Given the description of an element on the screen output the (x, y) to click on. 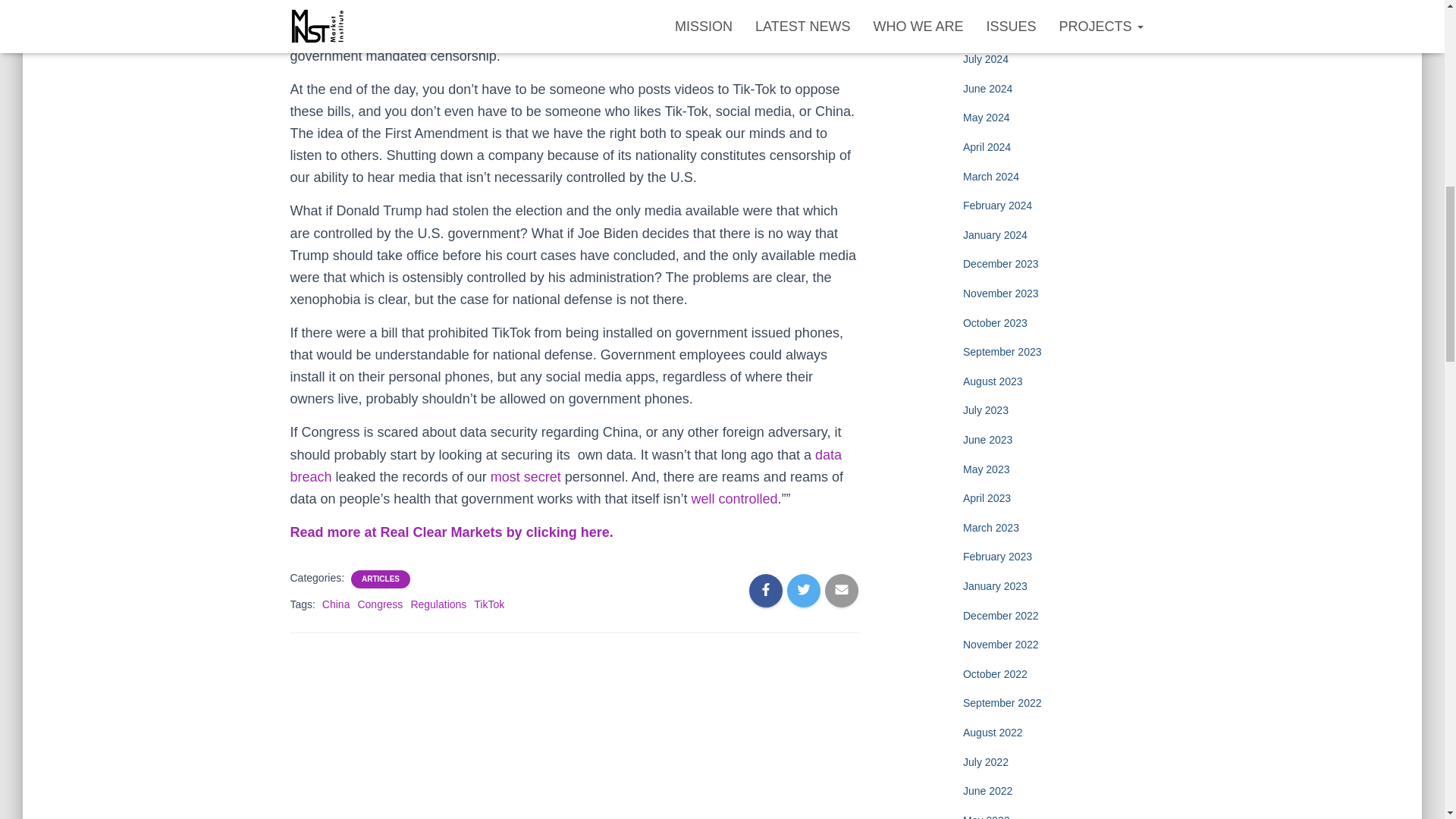
ARTICLES (380, 579)
January 2024 (994, 234)
Regulations (437, 604)
TikTok (488, 604)
May 2024 (985, 117)
October 2023 (994, 322)
February 2024 (997, 205)
China (335, 604)
December 2023 (1000, 263)
well controlled (733, 498)
June 2024 (986, 88)
data breach (565, 465)
September 2023 (1002, 351)
July 2024 (985, 59)
November 2023 (1000, 293)
